Given the description of an element on the screen output the (x, y) to click on. 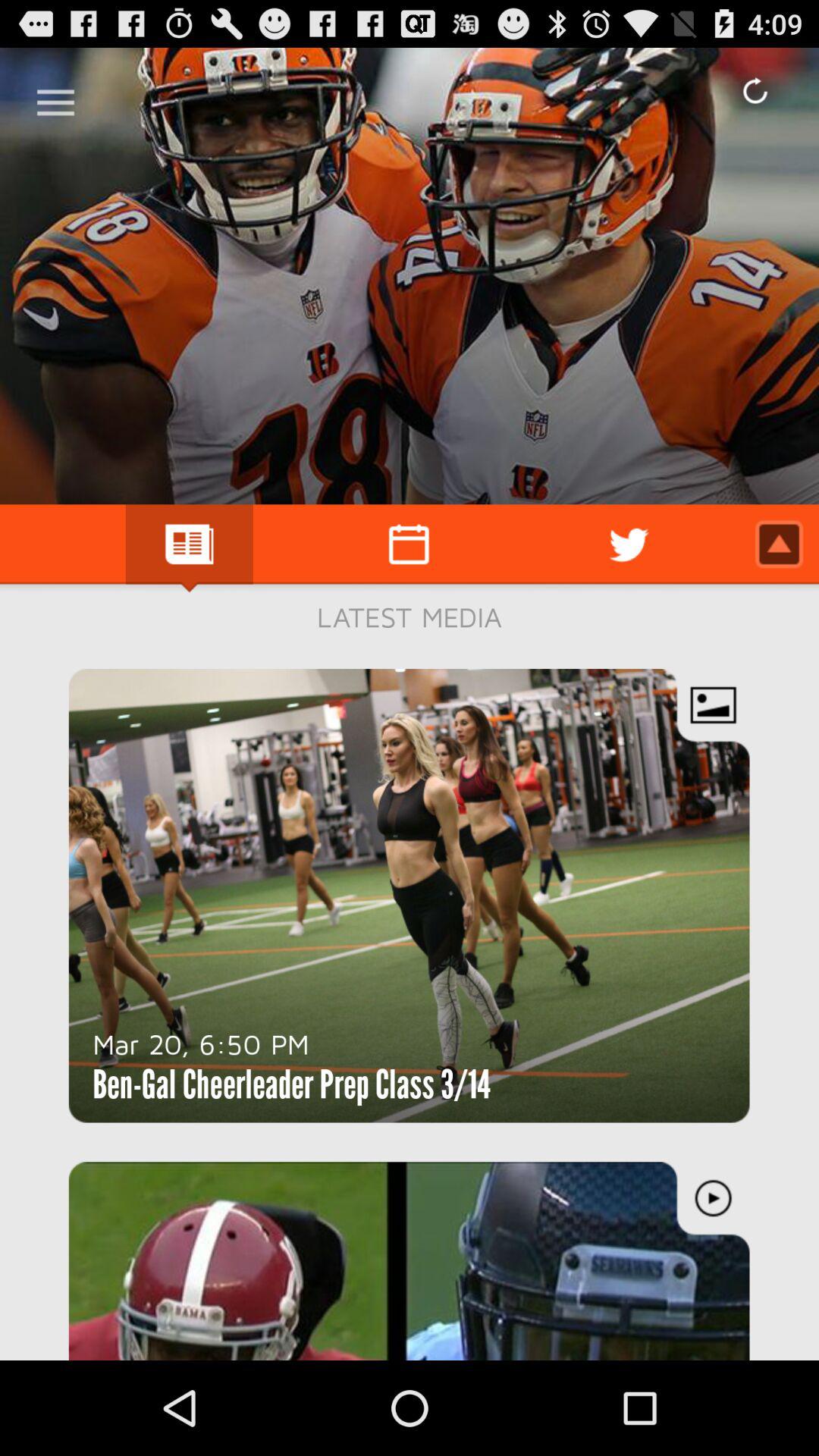
launch icon below the latest media item (200, 1043)
